Given the description of an element on the screen output the (x, y) to click on. 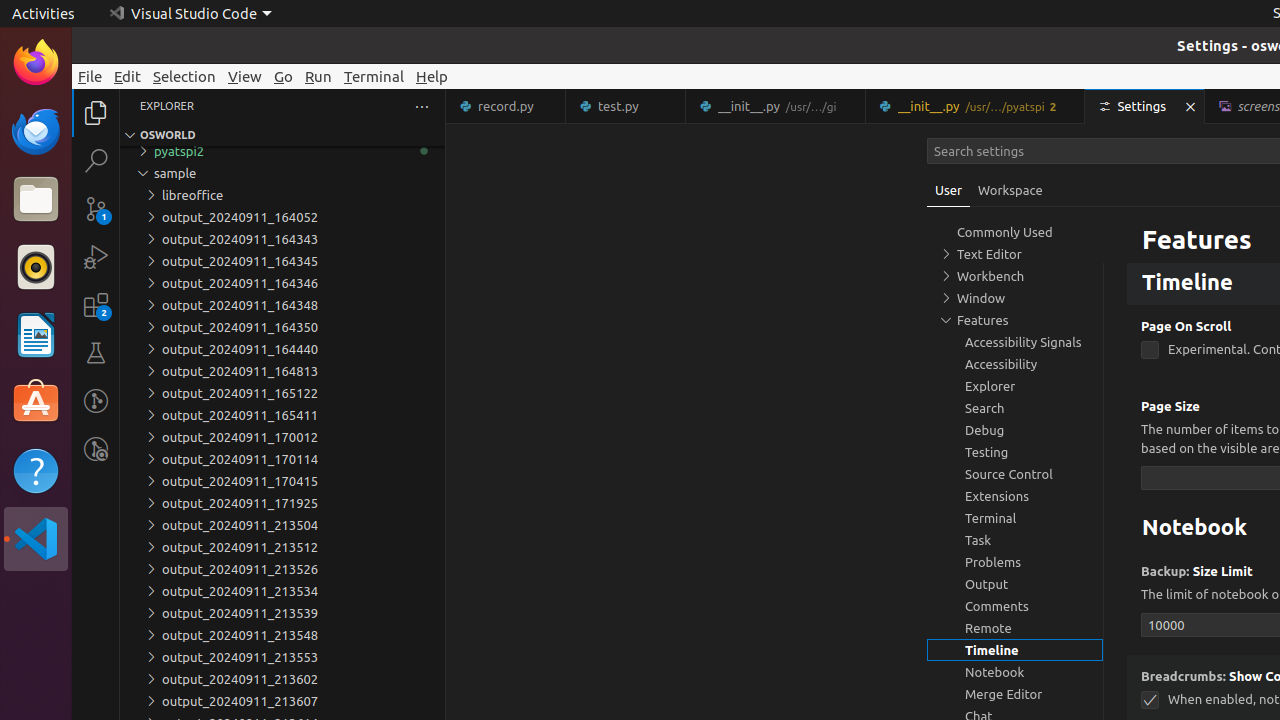
Go Element type: push-button (283, 76)
output_20240911_164346 Element type: tree-item (282, 283)
Edit Element type: push-button (127, 76)
test.py Element type: page-tab (626, 106)
